Given the description of an element on the screen output the (x, y) to click on. 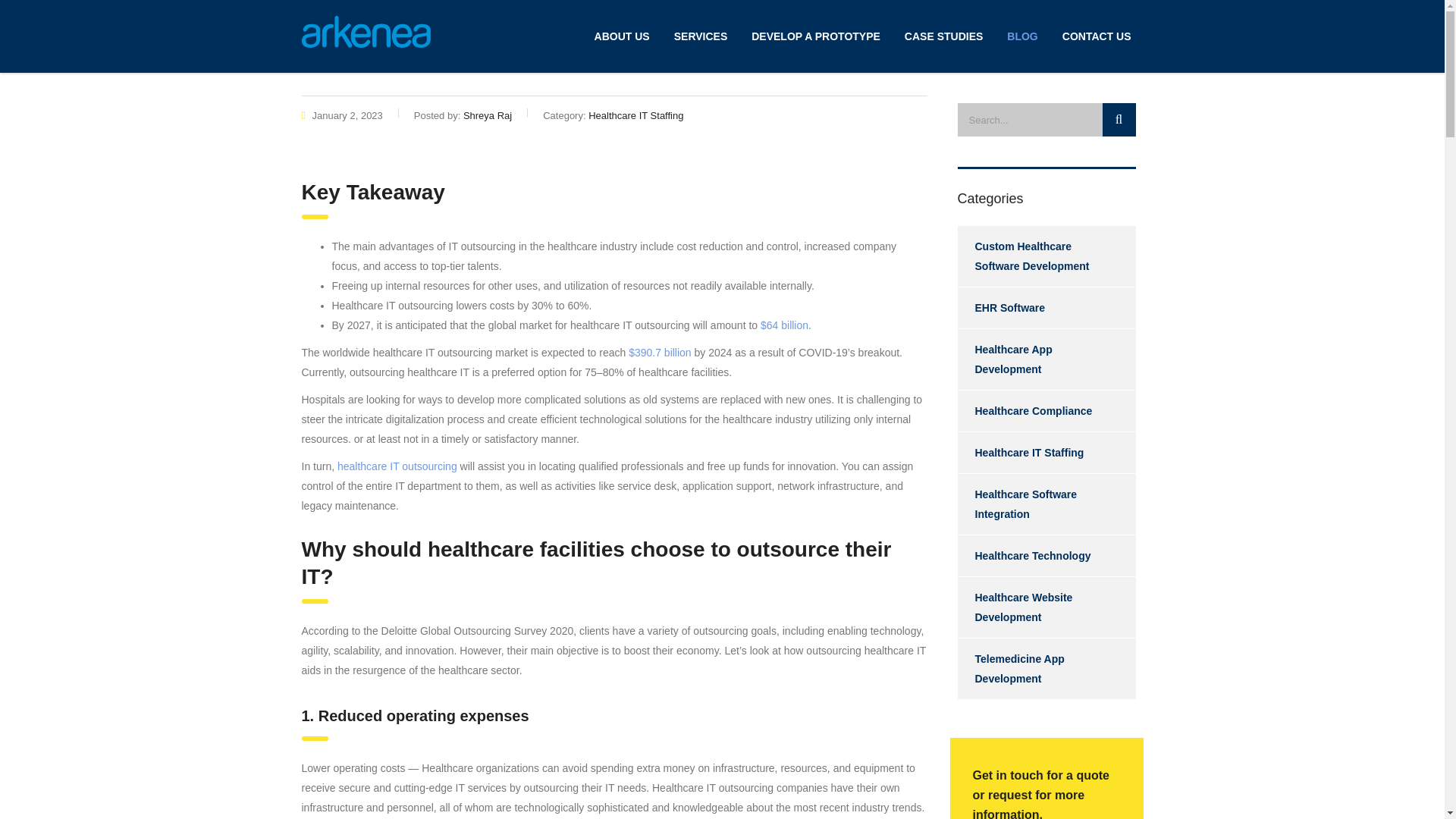
Custom Healthcare Software Development (1037, 256)
CONTACT US (1095, 36)
Healthcare Software Integration (1037, 504)
Healthcare Technology (1023, 555)
Healthcare App Development (1037, 359)
Healthcare Website Development (1037, 607)
Healthcare Compliance (1024, 410)
ABOUT US (622, 36)
BLOG (1021, 36)
Healthcare IT Staffing (1019, 452)
